Given the description of an element on the screen output the (x, y) to click on. 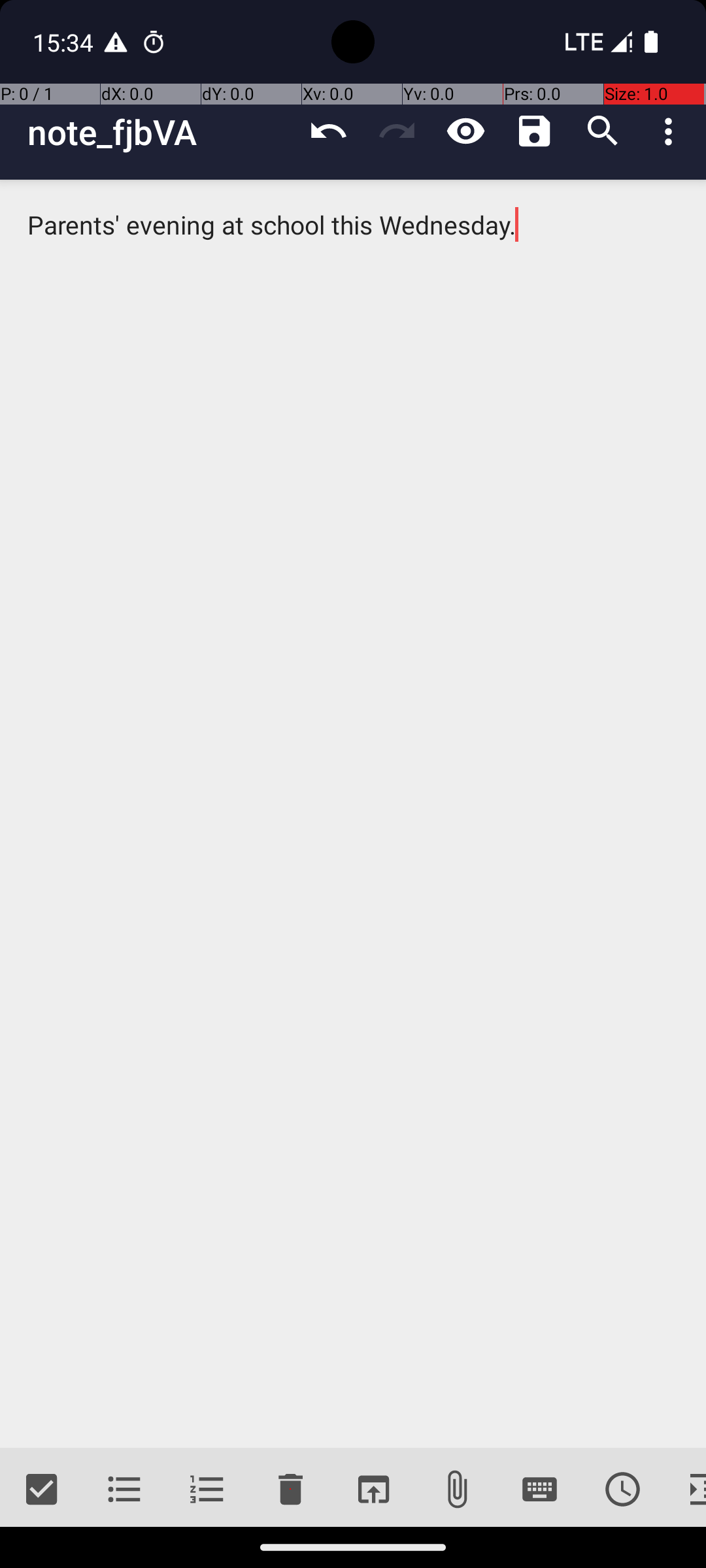
note_fjbVA Element type: android.widget.TextView (160, 131)
Parents' evening at school this Wednesday. Element type: android.widget.EditText (353, 813)
